Given the description of an element on the screen output the (x, y) to click on. 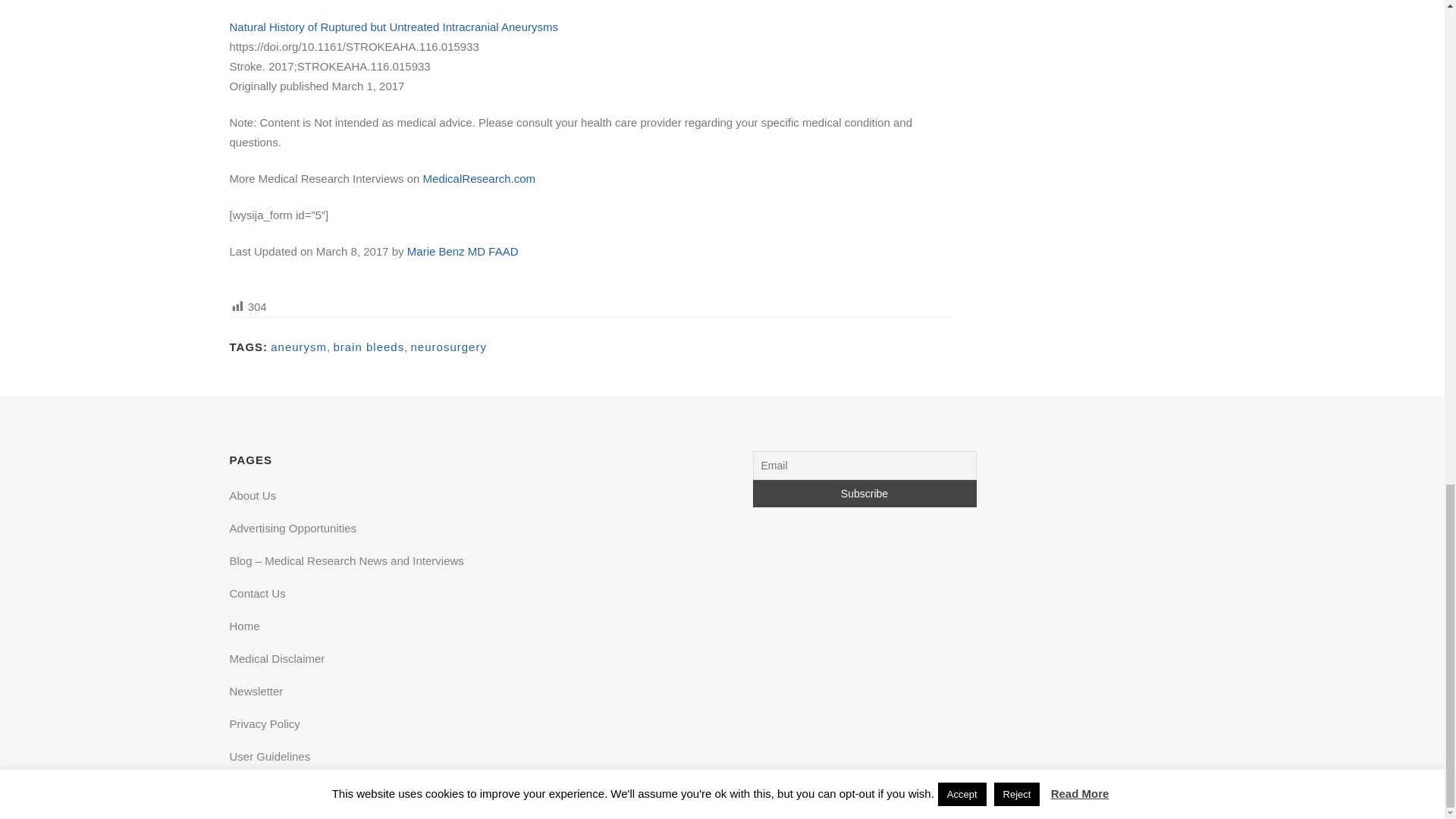
Subscribe (863, 492)
